Given the description of an element on the screen output the (x, y) to click on. 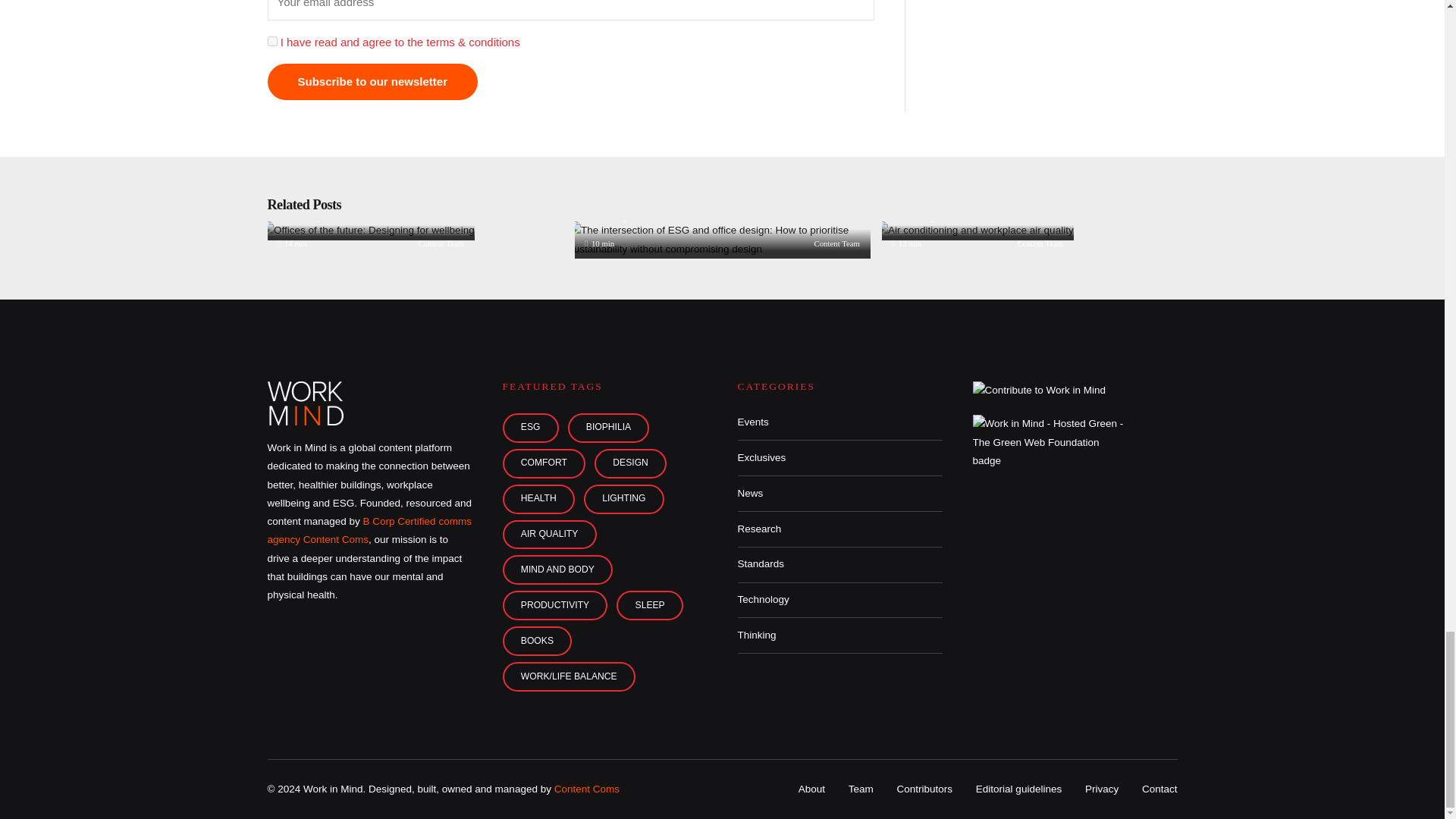
Subscribe to our newsletter (371, 81)
Offices of the future: Designing for wellbeing (368, 230)
1 (271, 40)
Air conditioning and workplace air quality (975, 230)
